Given the description of an element on the screen output the (x, y) to click on. 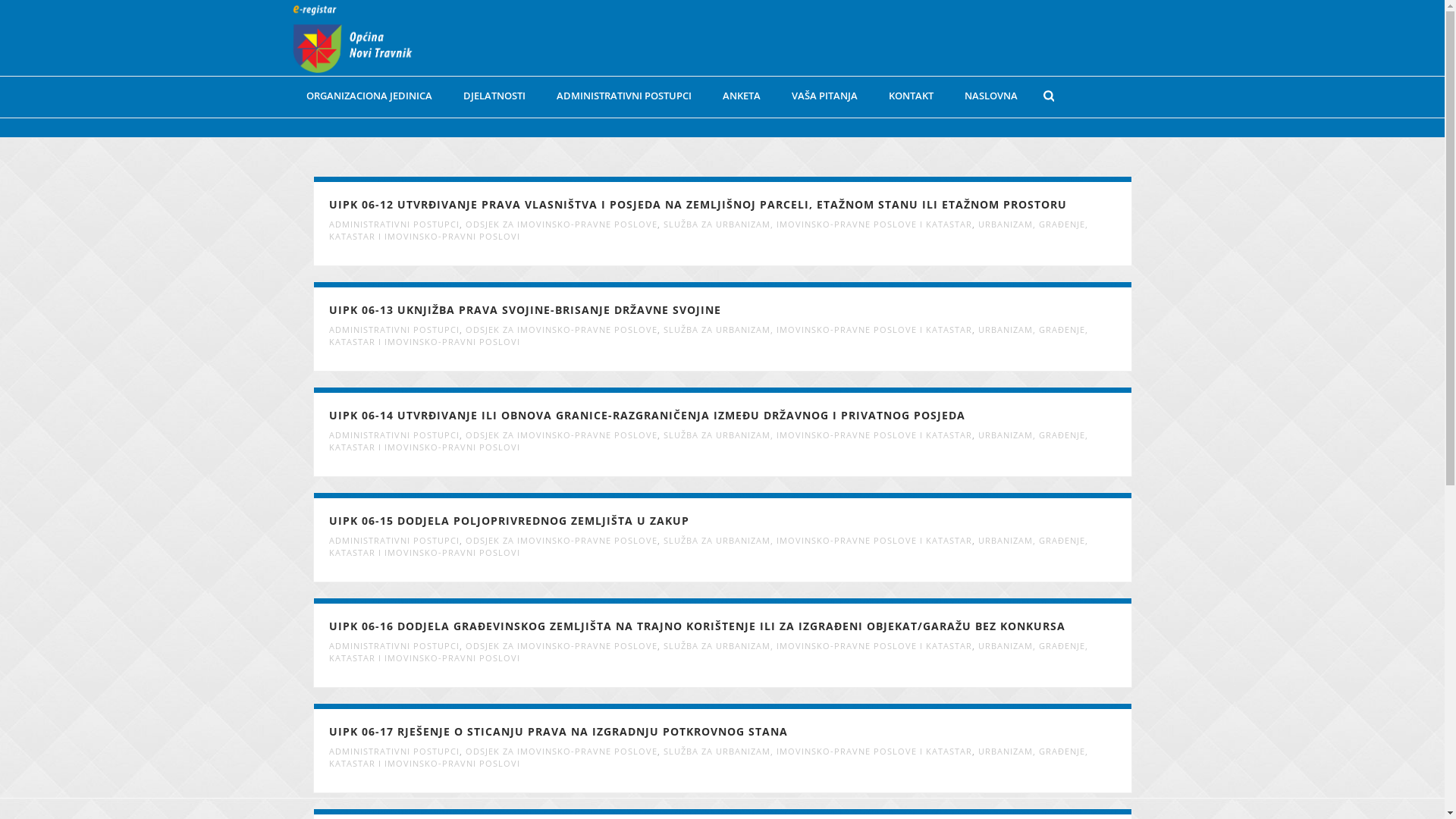
ODSJEK ZA IMOVINSKO-PRAVNE POSLOVE Element type: text (561, 540)
ODSJEK ZA IMOVINSKO-PRAVNE POSLOVE Element type: text (561, 750)
ODSJEK ZA IMOVINSKO-PRAVNE POSLOVE Element type: text (561, 434)
ORGANIZACIONA JEDINICA Element type: text (369, 95)
ADMINISTRATIVNI POSTUPCI Element type: text (394, 540)
NASLOVNA Element type: text (990, 95)
ADMINISTRATIVNI POSTUPCI Element type: text (394, 645)
UIPK 06-18   Deeskproprijacija nekretnina Element type: hover (722, 811)
ADMINISTRATIVNI POSTUPCI Element type: text (394, 750)
ADMINISTRATIVNI POSTUPCI Element type: text (623, 95)
ANKETA Element type: text (740, 95)
ODSJEK ZA IMOVINSKO-PRAVNE POSLOVE Element type: text (561, 329)
ADMINISTRATIVNI POSTUPCI Element type: text (394, 434)
ADMINISTRATIVNI POSTUPCI Element type: text (394, 329)
ADMINISTRATIVNI POSTUPCI Element type: text (394, 223)
DJELATNOSTI Element type: text (493, 95)
ODSJEK ZA IMOVINSKO-PRAVNE POSLOVE Element type: text (561, 645)
ODSJEK ZA IMOVINSKO-PRAVNE POSLOVE Element type: text (561, 223)
KONTAKT Element type: text (910, 95)
